Given the description of an element on the screen output the (x, y) to click on. 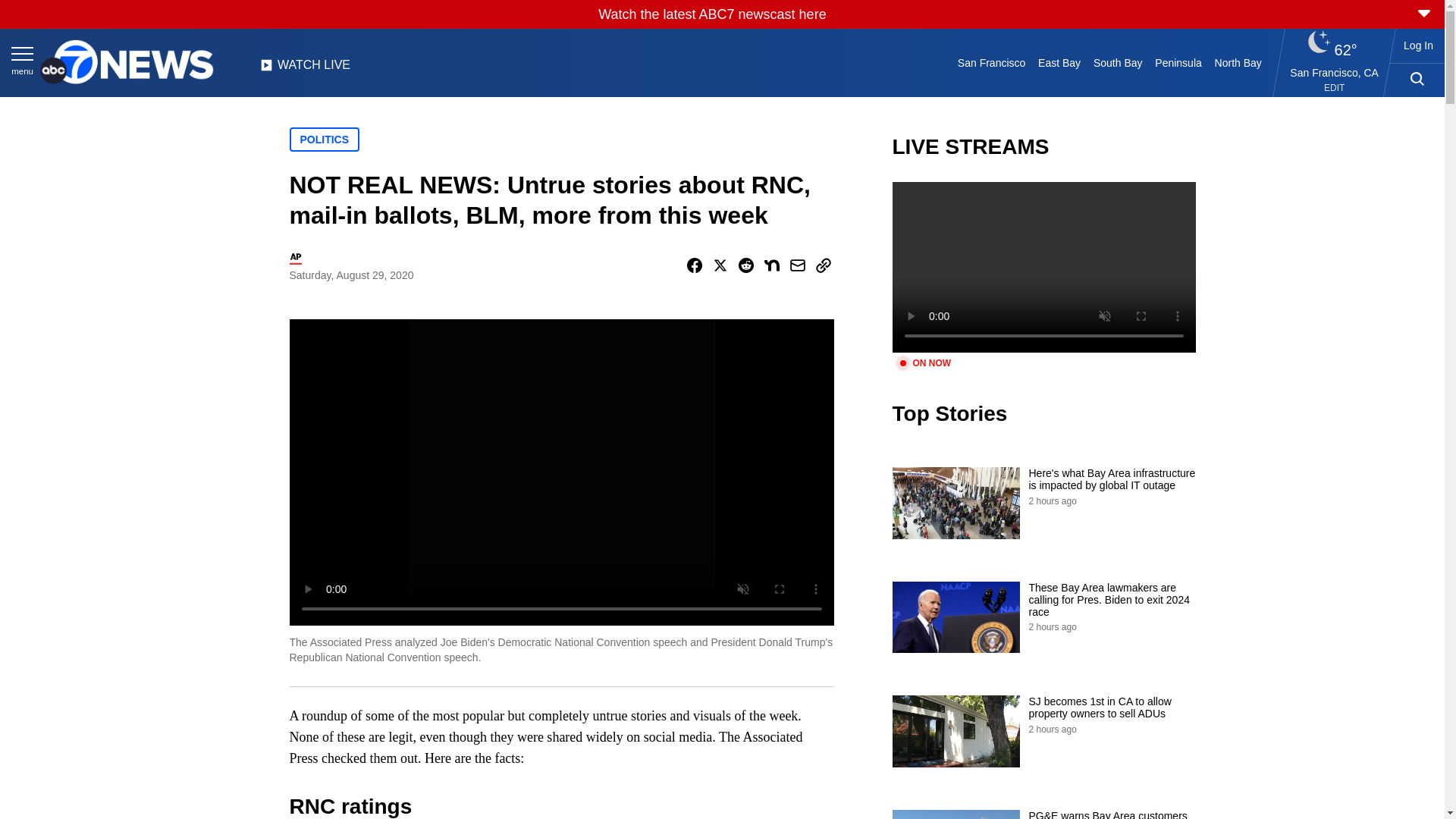
San Francisco (990, 62)
video.title (1043, 266)
South Bay (1117, 62)
San Francisco, CA (1334, 72)
Peninsula (1178, 62)
East Bay (1059, 62)
EDIT (1333, 87)
WATCH LIVE (305, 69)
North Bay (1238, 62)
